Given the description of an element on the screen output the (x, y) to click on. 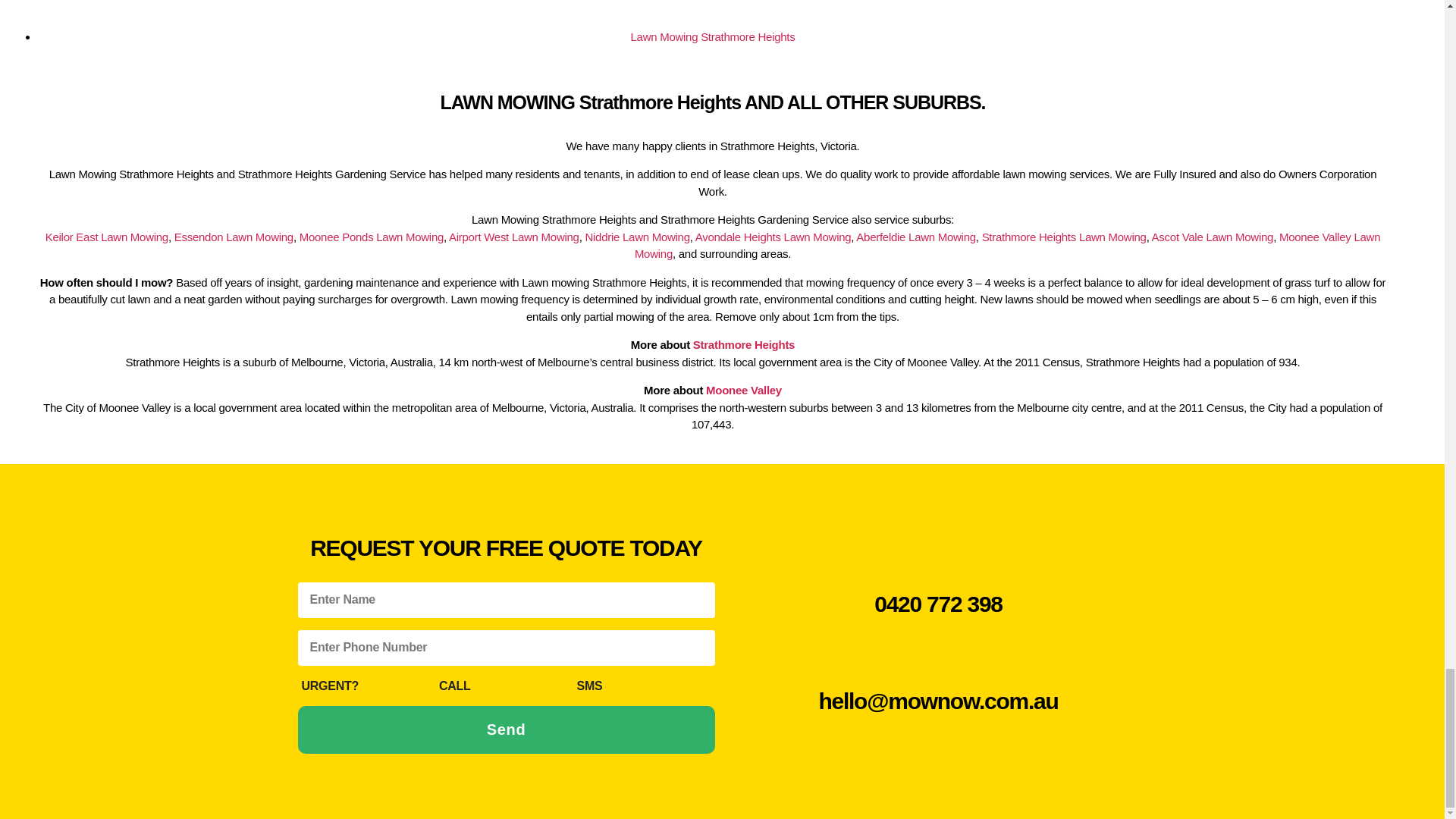
Moonee Valley Lawn Mowing (1007, 245)
Lawn Mowing Strathmore Heights (712, 36)
Moonee Valley (743, 390)
Essendon Lawn Mowing (234, 236)
Aberfeldie Lawn Mowing (915, 236)
Moonee Ponds Lawn Mowing (371, 236)
Ascot Vale Lawn Mowing (1212, 236)
Avondale Heights Lawn Mowing (773, 236)
Send (505, 729)
Keilor East Lawn Mowing (106, 236)
Strathmore Heights (743, 344)
Strathmore Heights Lawn Mowing (1064, 236)
0420 772 398 (939, 603)
Niddrie Lawn Mowing (636, 236)
Airport West Lawn Mowing (513, 236)
